Given the description of an element on the screen output the (x, y) to click on. 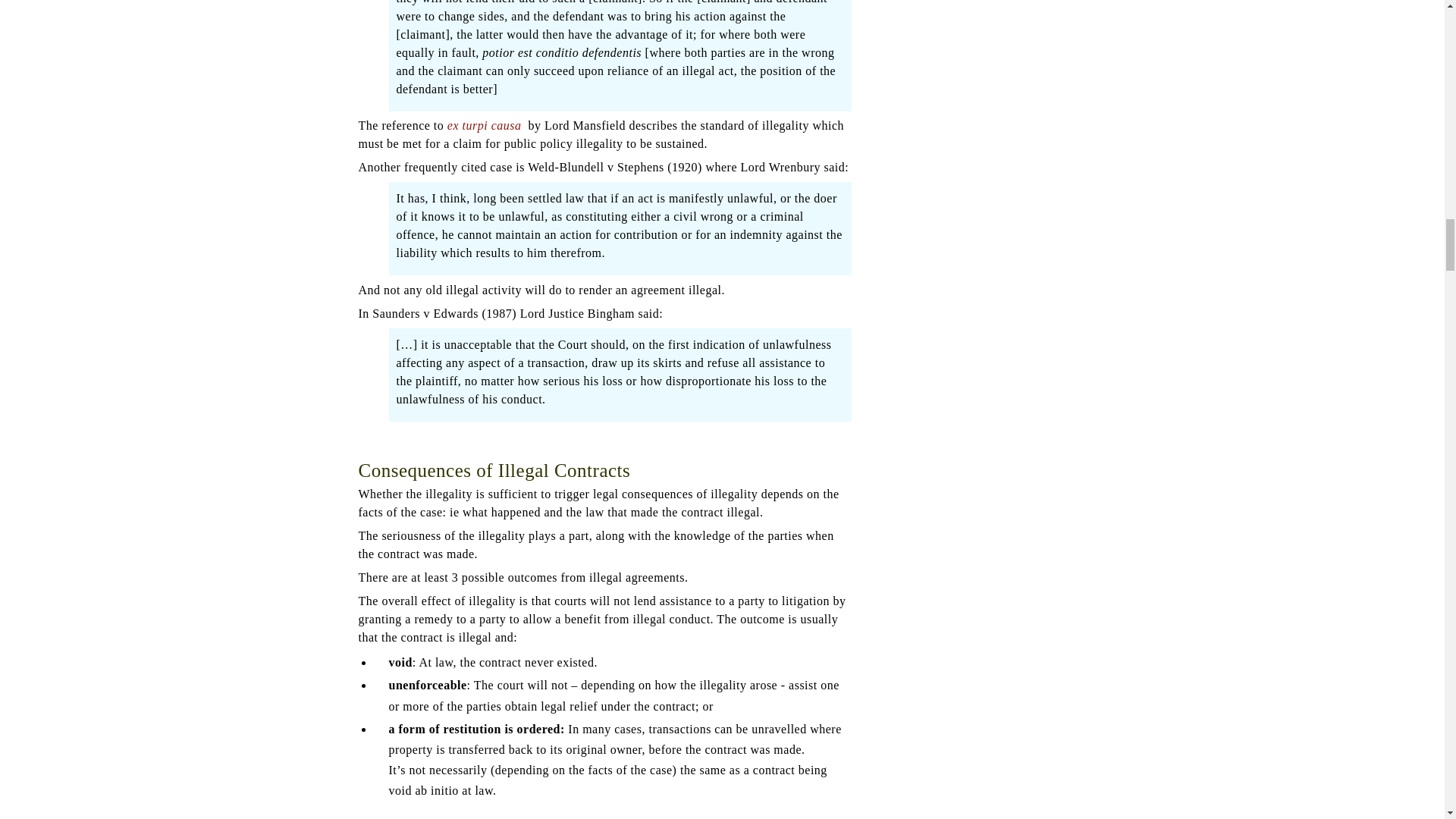
ex turpi causa (485, 124)
